Given the description of an element on the screen output the (x, y) to click on. 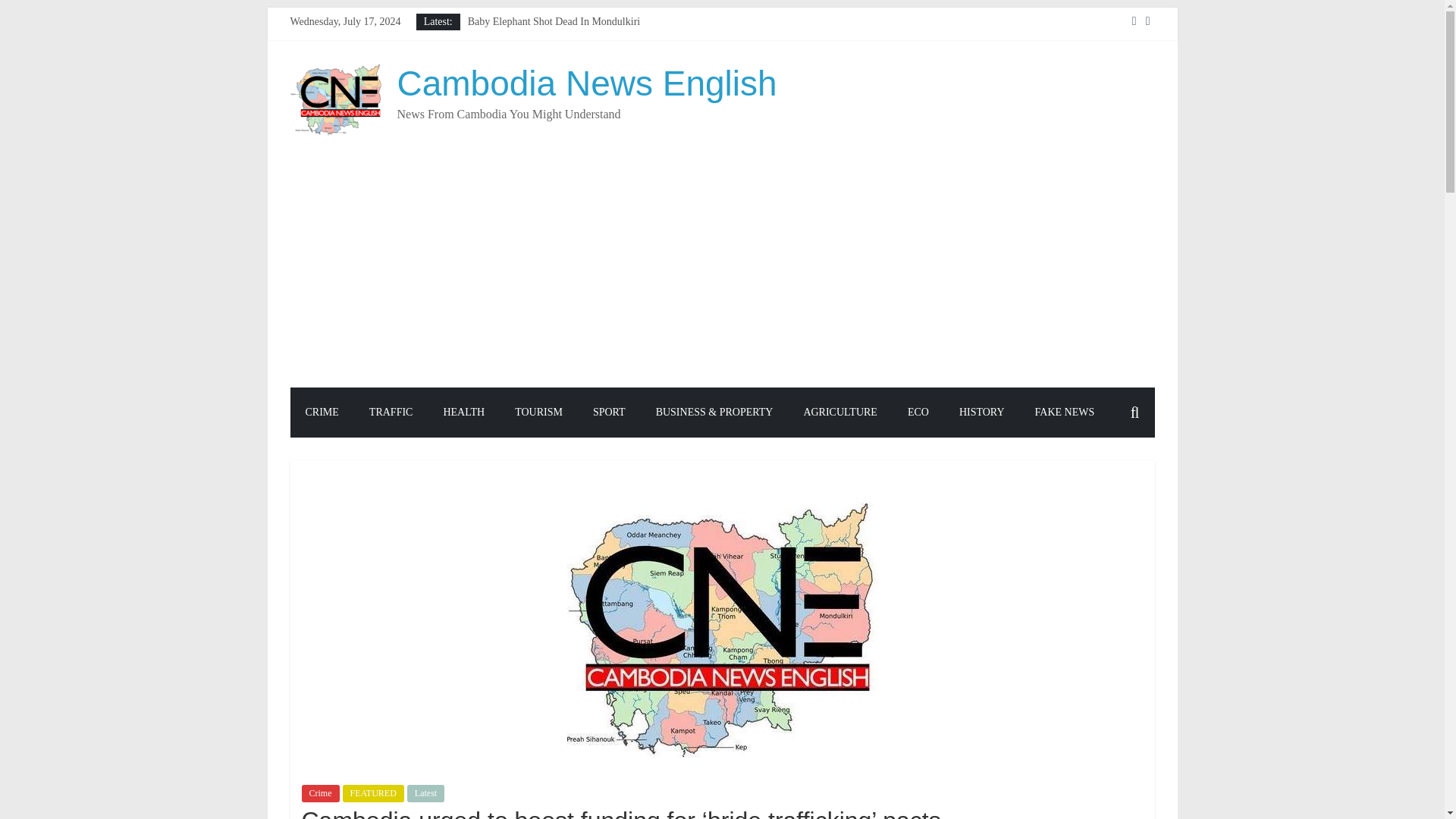
This Week In Cambodian History: January 22-28 (572, 89)
Latest (425, 792)
Angkor Mural By Cambodian Artist Completed In Cabra, NSW (603, 38)
Angkor Mural By Cambodian Artist Completed In Cabra, NSW (603, 38)
Cambodia News English (587, 83)
Baby Elephant Shot Dead In Mondulkiri (553, 21)
ECO (917, 412)
TOURISM (538, 412)
SPORT (609, 412)
Euro Film Festival Coming This February (556, 71)
FAKE NEWS (1064, 412)
HISTORY (981, 412)
This Week In Cambodian History: January 22-28 (572, 89)
